Given the description of an element on the screen output the (x, y) to click on. 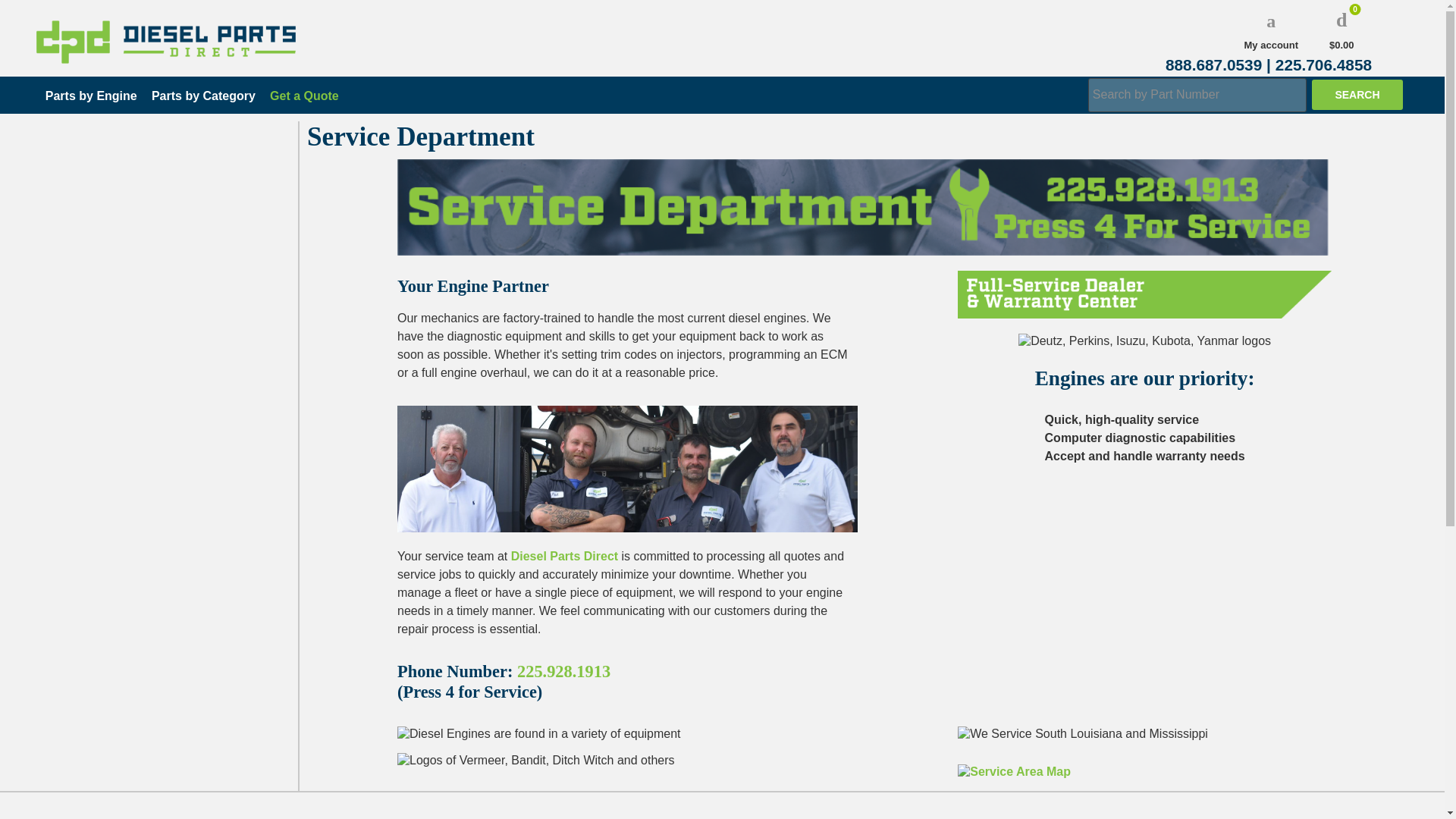
My account (1271, 30)
Diesel Parts Direct (564, 555)
Examples of equipment we service; JLG, Atlas, Genie, Lincoln (536, 760)
We Handle Warranty Needs (1145, 300)
Search (1357, 94)
Diesel Parts Direct services Louisiana and South Mississippi (1014, 765)
We're an authorized dealer for the following manufacturers (1144, 346)
Search (1357, 94)
Parts by Engine (90, 95)
